Given the description of an element on the screen output the (x, y) to click on. 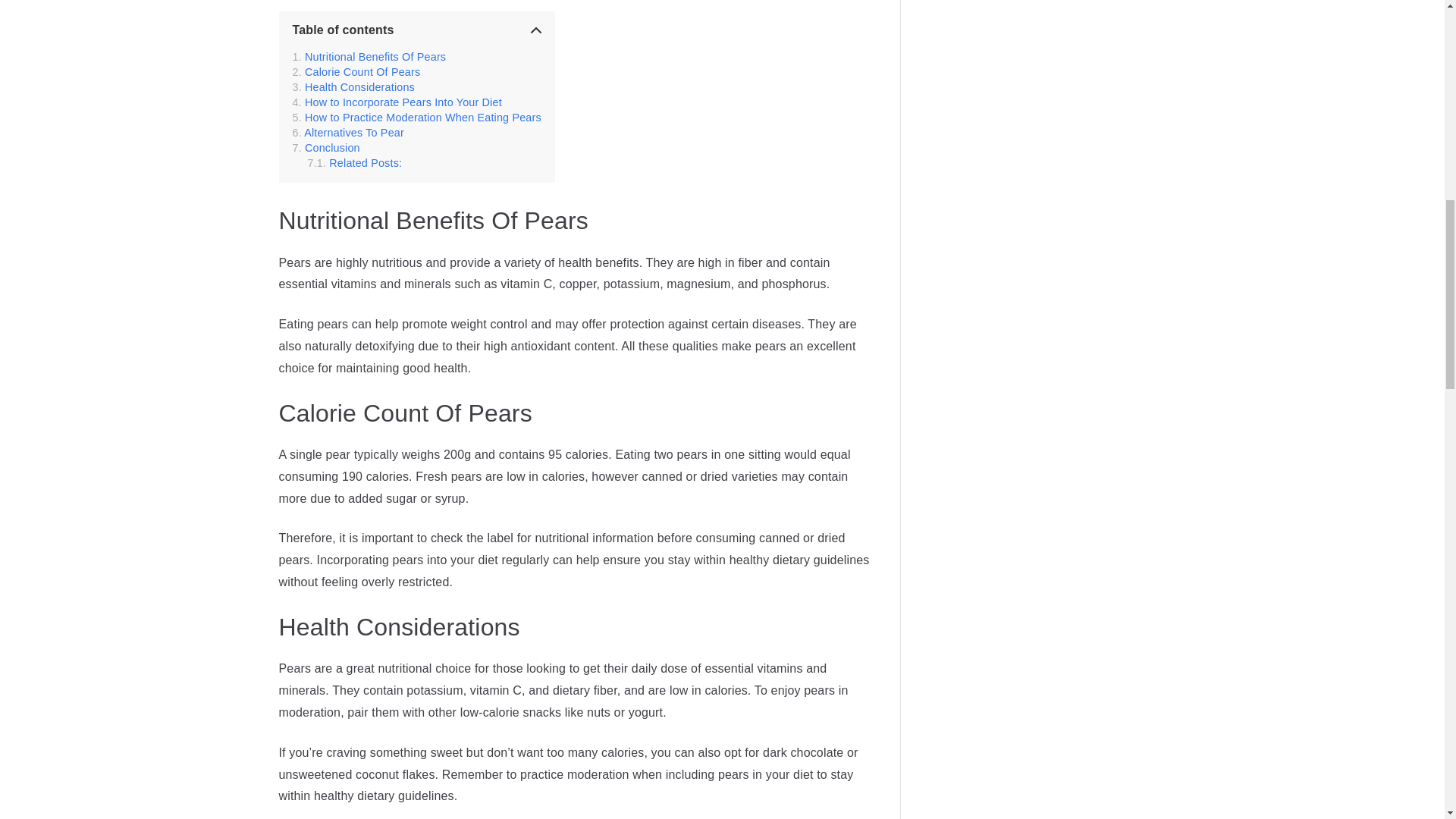
How to Incorporate Pears Into Your Diet (397, 102)
Alternatives To Pear (348, 132)
Alternatives To Pear (348, 132)
How to Incorporate Pears Into Your Diet (397, 102)
Calorie Count Of Pears (356, 71)
Conclusion (325, 147)
Health Considerations (353, 87)
Related Posts: (355, 162)
Related Posts: (355, 162)
How to Practice Moderation When Eating Pears (416, 117)
Nutritional Benefits Of Pears (369, 56)
Calorie Count Of Pears (356, 71)
How to Practice Moderation When Eating Pears (416, 117)
Conclusion (325, 147)
Health Considerations (353, 87)
